Given the description of an element on the screen output the (x, y) to click on. 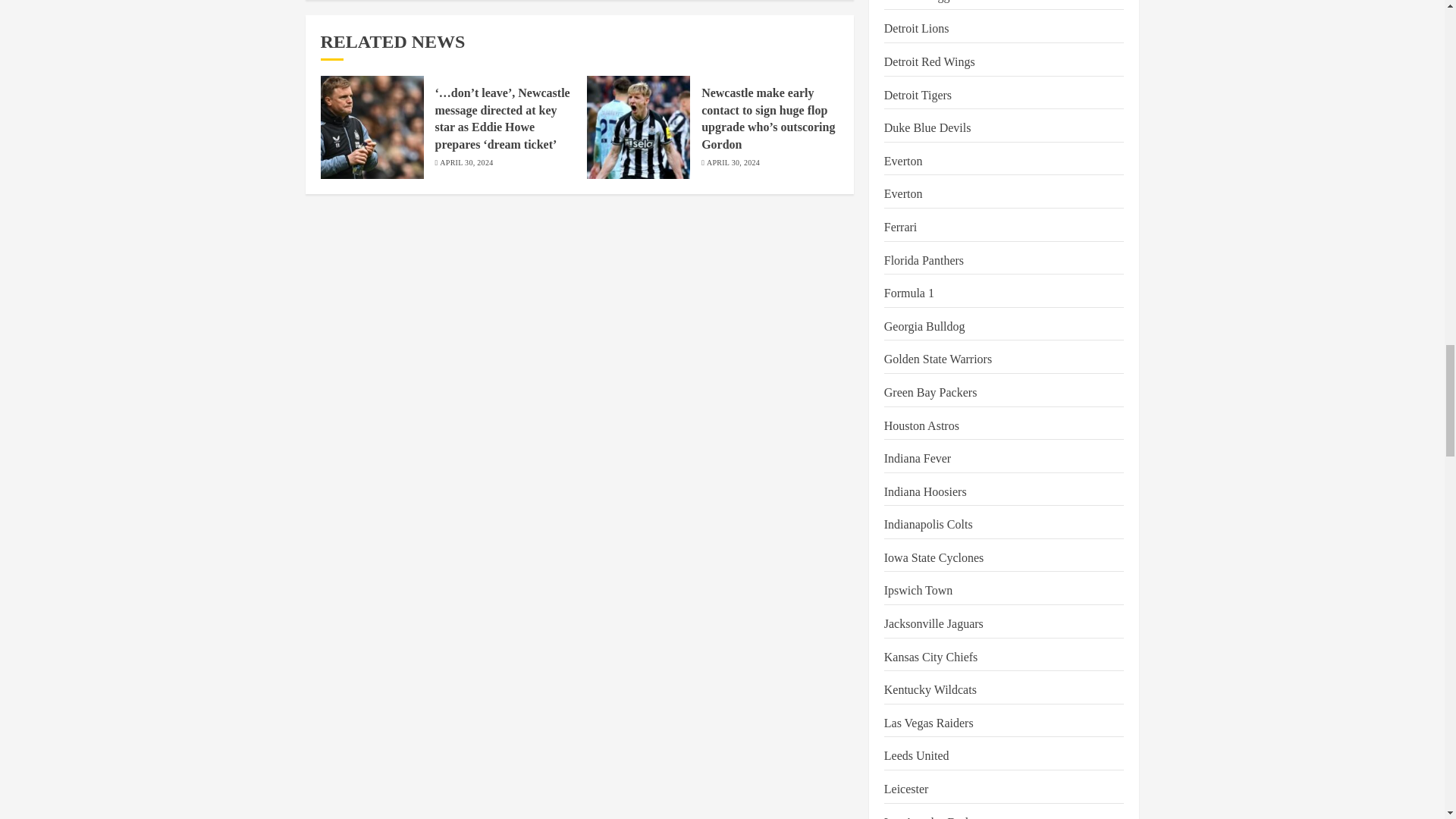
APRIL 30, 2024 (733, 163)
APRIL 30, 2024 (466, 163)
